Given the description of an element on the screen output the (x, y) to click on. 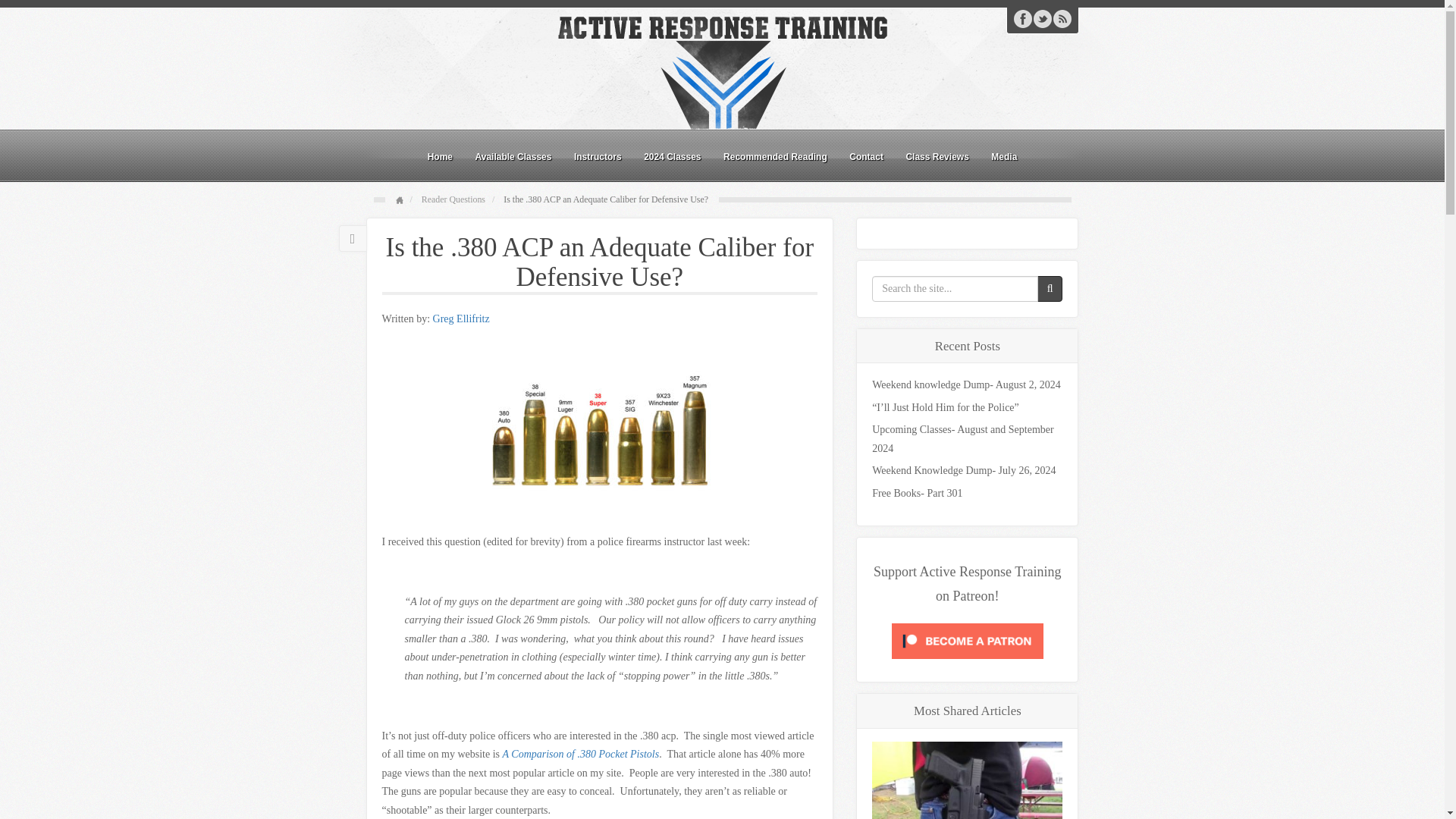
Free Books- Part 301 (917, 492)
Greg Ellifritz (460, 318)
Reader Questions (453, 199)
Recommended Reading (775, 156)
Instructors (597, 156)
2024 Classes (671, 156)
Weekend Knowledge Dump- July 26, 2024 (963, 470)
Active Response Training (721, 71)
RSS (1061, 18)
Weekend knowledge Dump- August 2, 2024 (966, 384)
Class Reviews (936, 156)
Facebook (1021, 18)
Contact (866, 156)
A Comparison of .380 Pocket Pistols (580, 754)
